Given the description of an element on the screen output the (x, y) to click on. 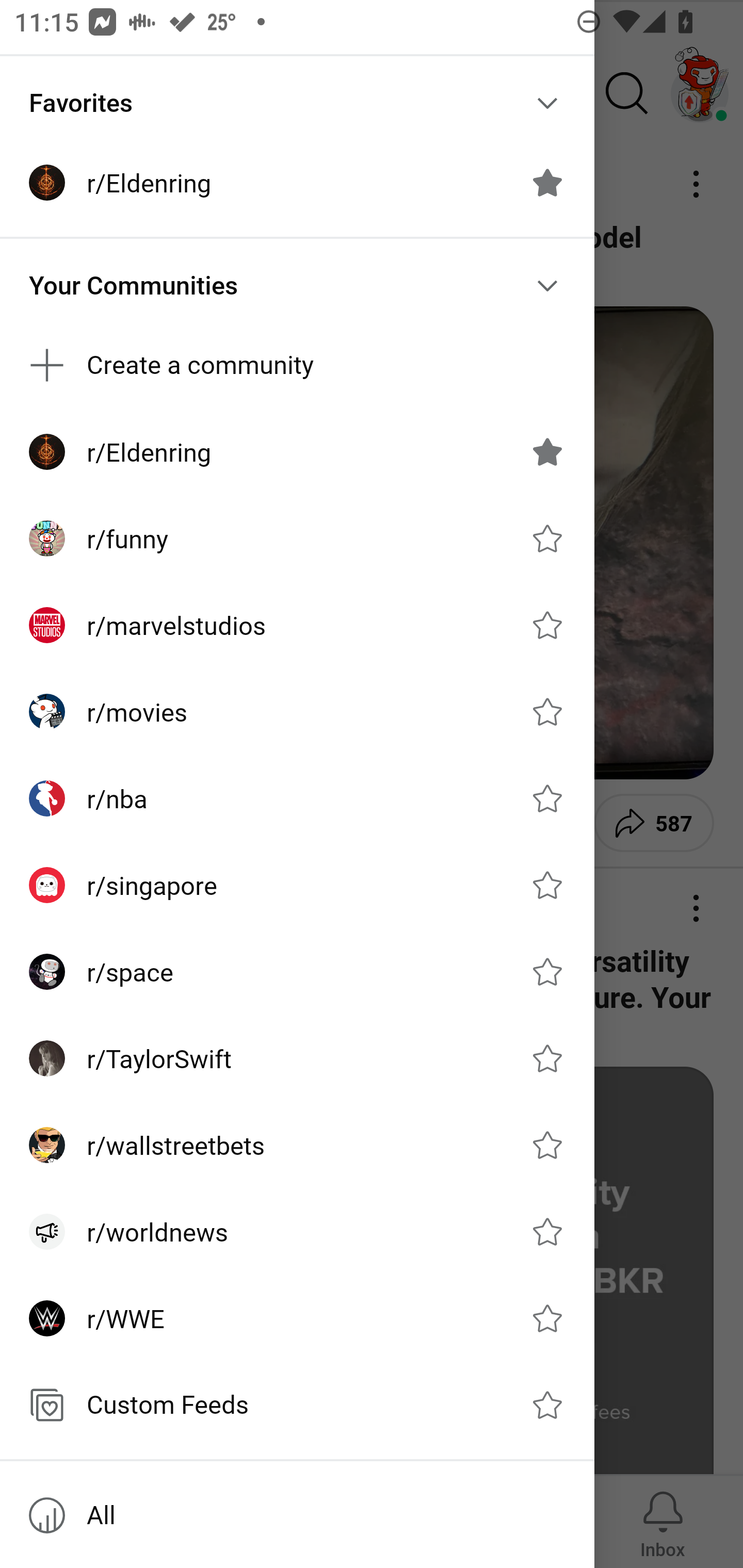
Favorites (297, 103)
r/Eldenring Unfavorite r/Eldenring (297, 182)
Unfavorite r/Eldenring (546, 182)
Your Communities (297, 285)
Create a community (297, 365)
r/Eldenring Unfavorite r/Eldenring (297, 452)
Unfavorite r/Eldenring (546, 451)
r/funny Favorite r/funny (297, 538)
Favorite r/funny (546, 538)
r/marvelstudios Favorite r/marvelstudios (297, 624)
Favorite r/marvelstudios (546, 624)
r/movies Favorite r/movies (297, 711)
Favorite r/movies (546, 711)
r/nba Favorite r/nba (297, 798)
Favorite r/nba (546, 798)
r/singapore Favorite r/singapore (297, 885)
Favorite r/singapore (546, 885)
r/space Favorite r/space (297, 971)
Favorite r/space (546, 971)
r/TaylorSwift Favorite r/TaylorSwift (297, 1058)
Favorite r/TaylorSwift (546, 1058)
r/wallstreetbets Favorite r/wallstreetbets (297, 1145)
Favorite r/wallstreetbets (546, 1145)
r/worldnews Favorite r/worldnews (297, 1231)
Favorite r/worldnews (546, 1231)
r/WWE Favorite r/WWE (297, 1317)
Favorite r/WWE (546, 1317)
Custom Feeds (297, 1404)
All (297, 1515)
